Given the description of an element on the screen output the (x, y) to click on. 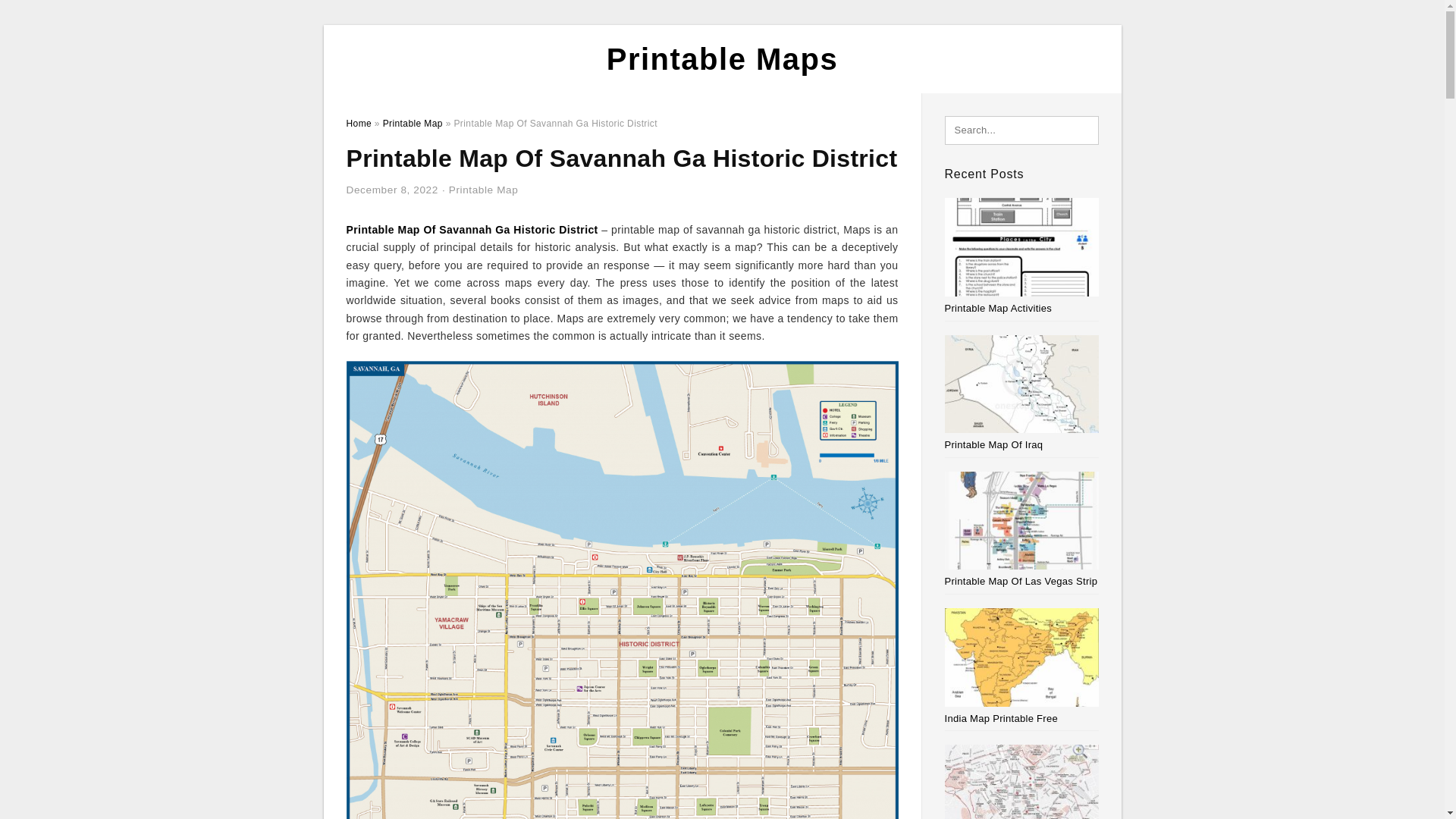
Printable Map Of Las Vegas Strip (1020, 581)
Printable Maps (722, 59)
Printable Map Activities (998, 307)
Printable Map Of Savannah Ga Historic District (471, 229)
India Map Printable Free (1001, 717)
Printable Map (483, 189)
Home (358, 122)
Search (43, 15)
Printable Map Of Iraq (993, 444)
Printable Map (412, 122)
